Given the description of an element on the screen output the (x, y) to click on. 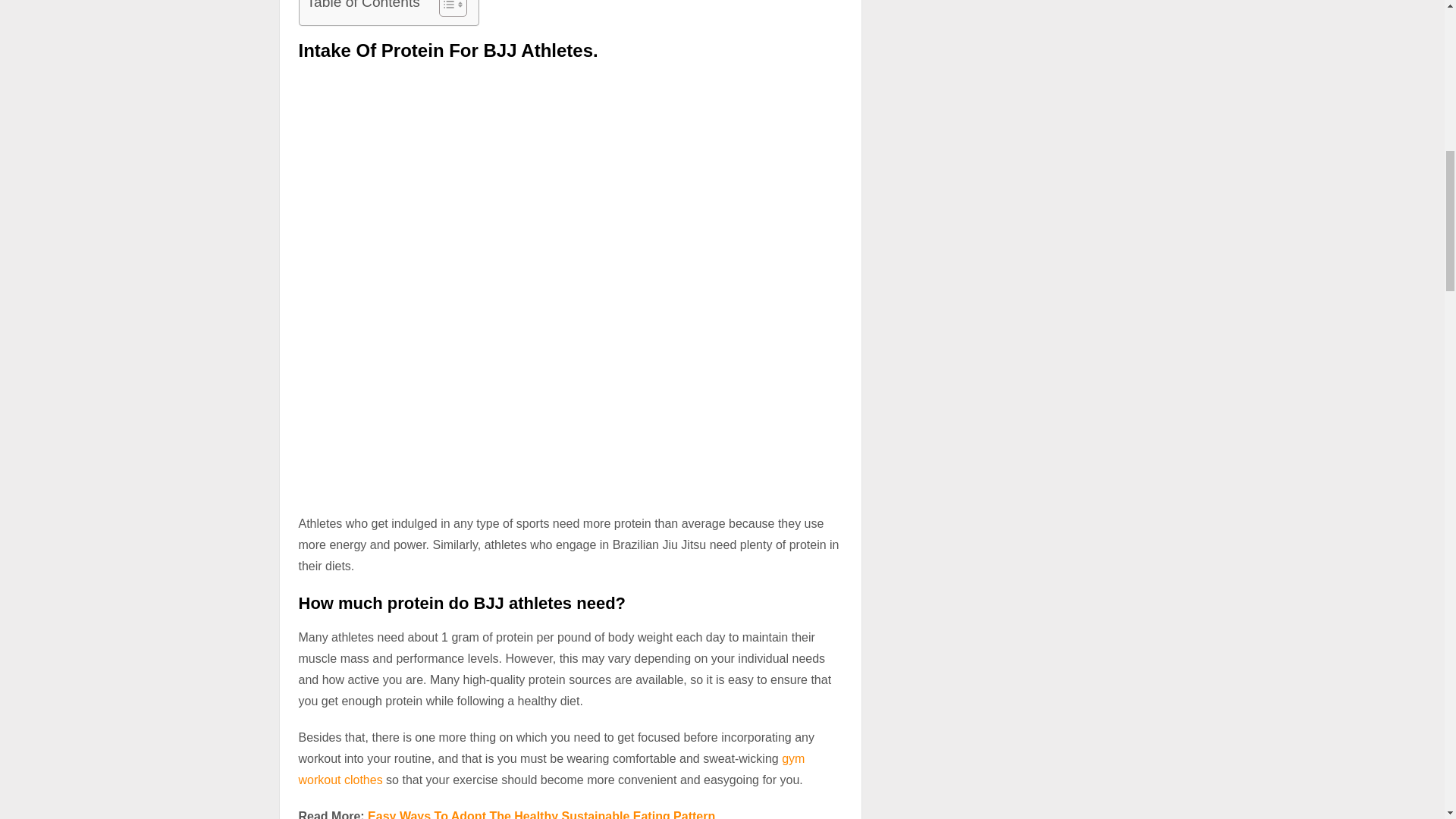
gym workout clothes (551, 769)
Easy Ways To Adopt The Healthy Sustainable Eating Pattern (541, 814)
